Given the description of an element on the screen output the (x, y) to click on. 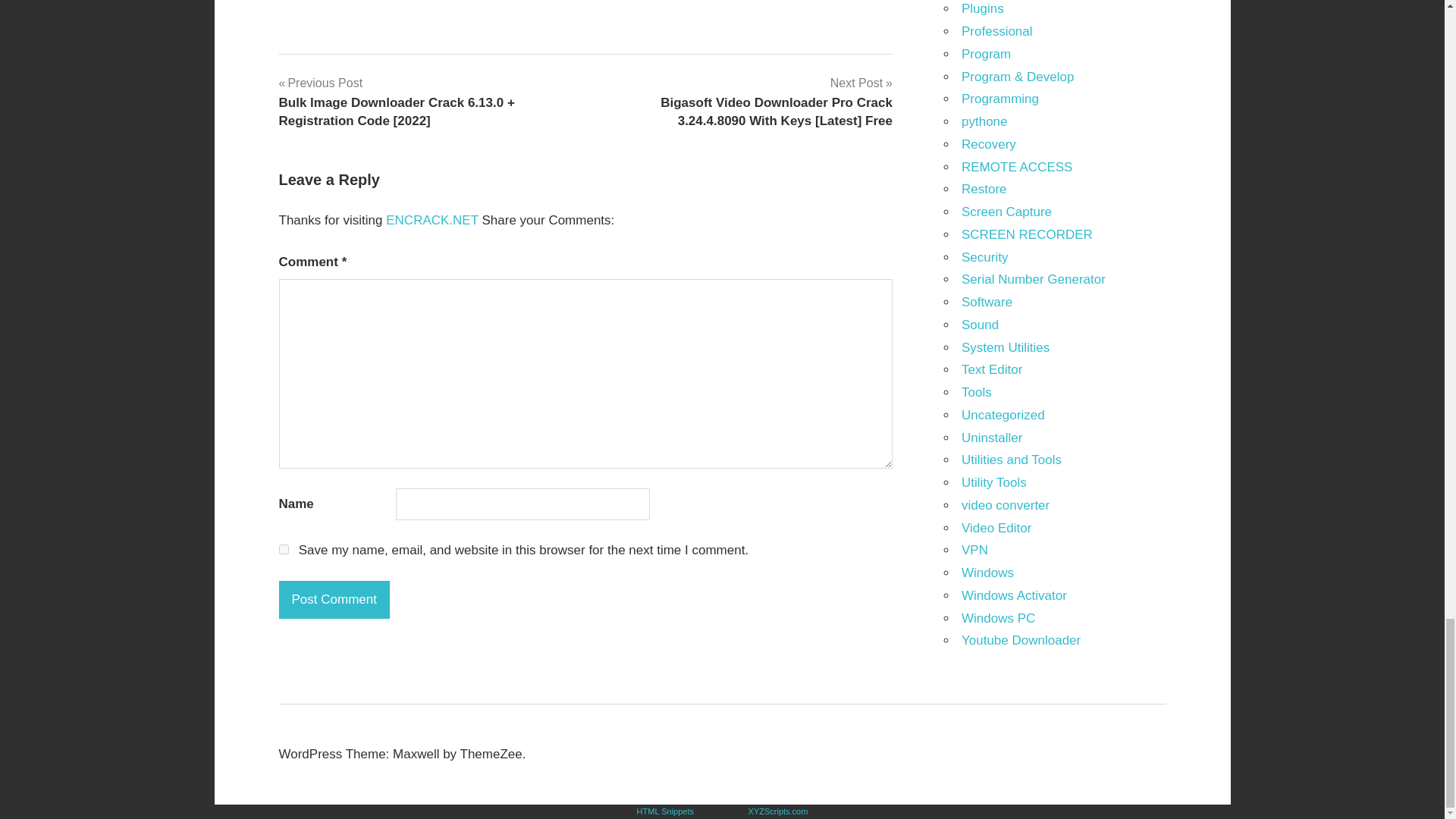
yes (283, 549)
Post Comment (334, 599)
Download Now (585, 0)
